Given the description of an element on the screen output the (x, y) to click on. 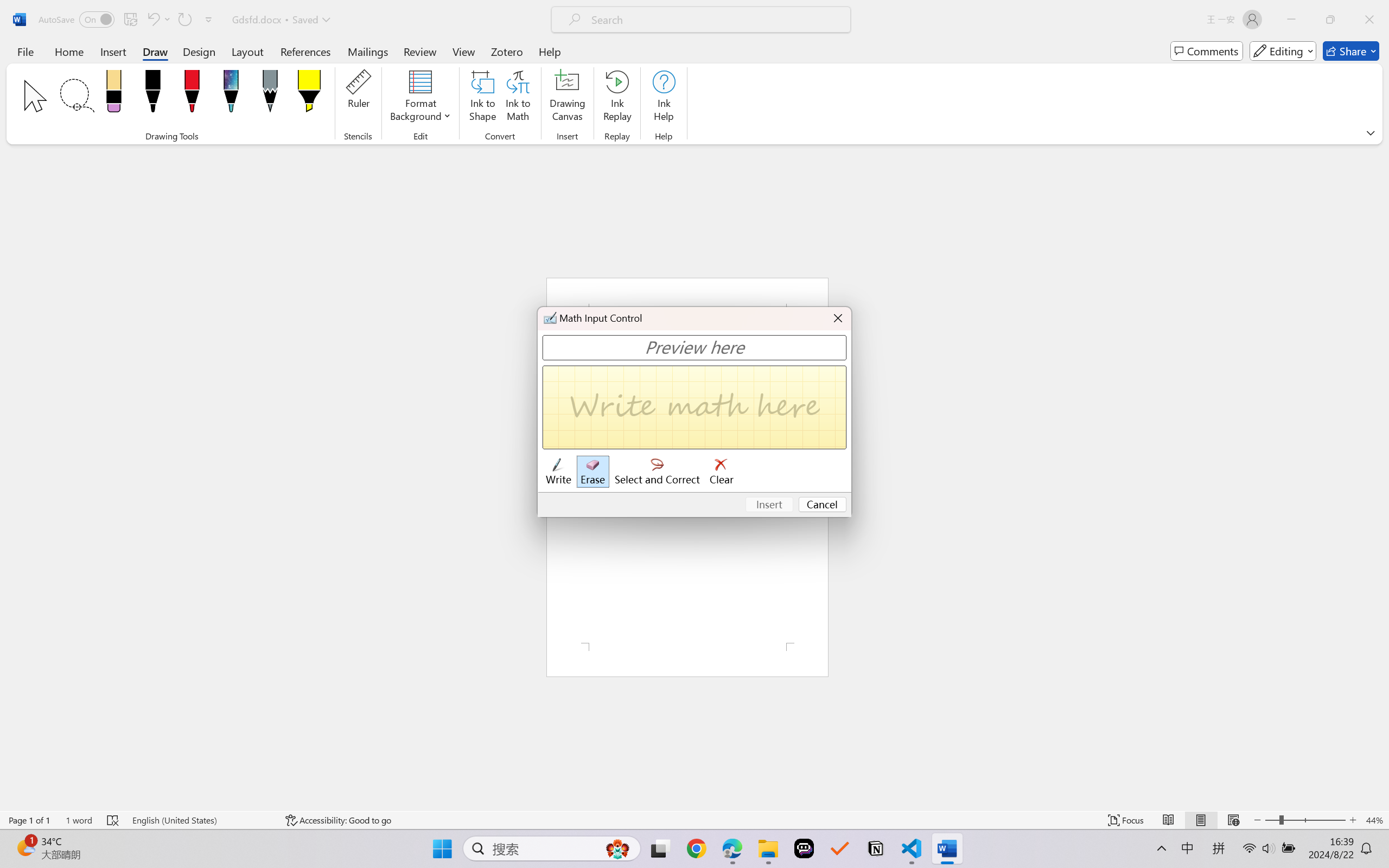
Poe (804, 848)
